Given the description of an element on the screen output the (x, y) to click on. 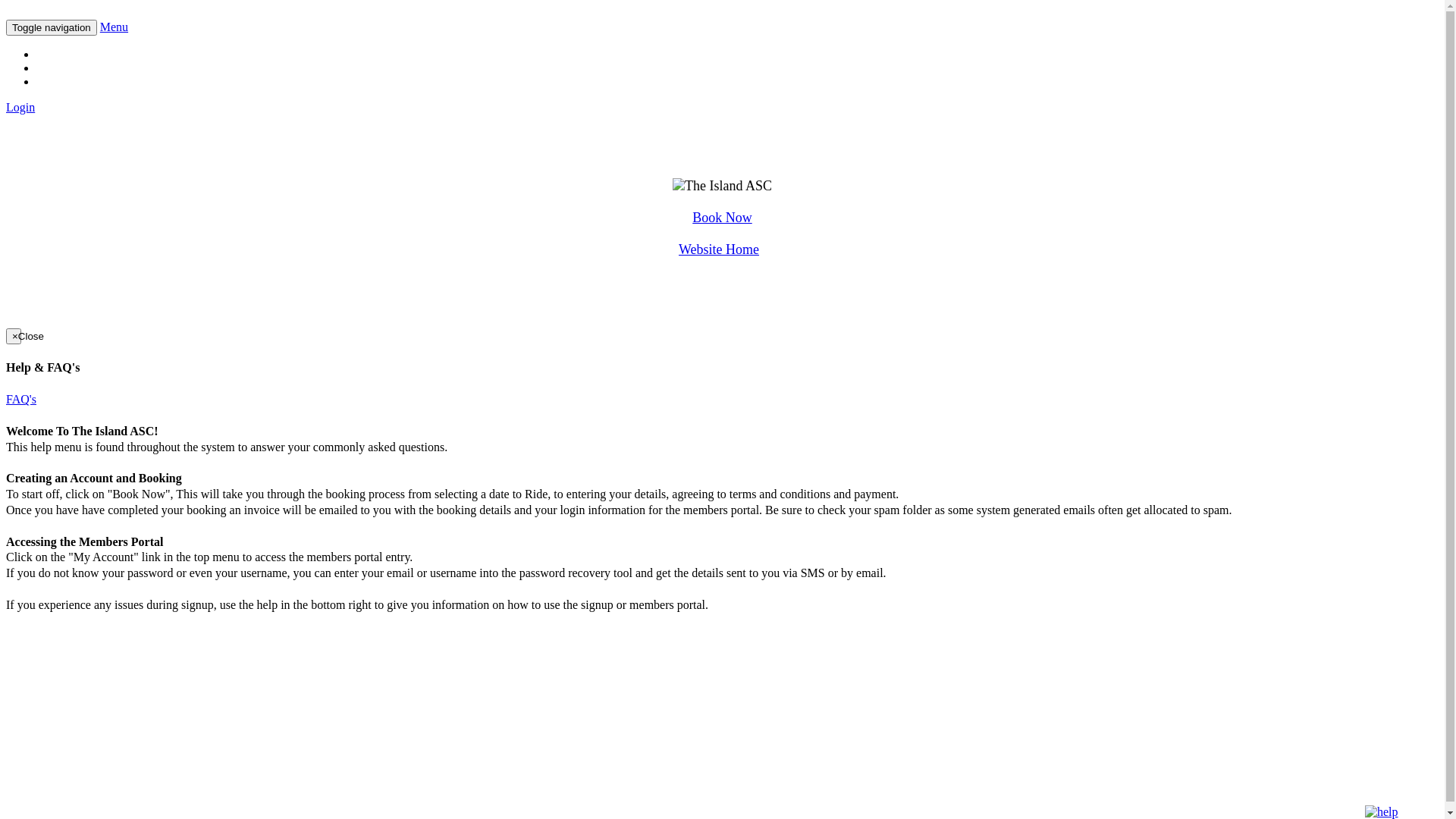
Menu Element type: text (114, 26)
Admin Element type: text (52, 81)
Website Home Element type: text (718, 249)
Toggle navigation Element type: text (51, 27)
My Account Element type: text (66, 67)
Book Now Element type: text (722, 217)
Login Element type: text (20, 106)
FAQ's Element type: text (21, 398)
Bookings Element type: text (59, 53)
